Given the description of an element on the screen output the (x, y) to click on. 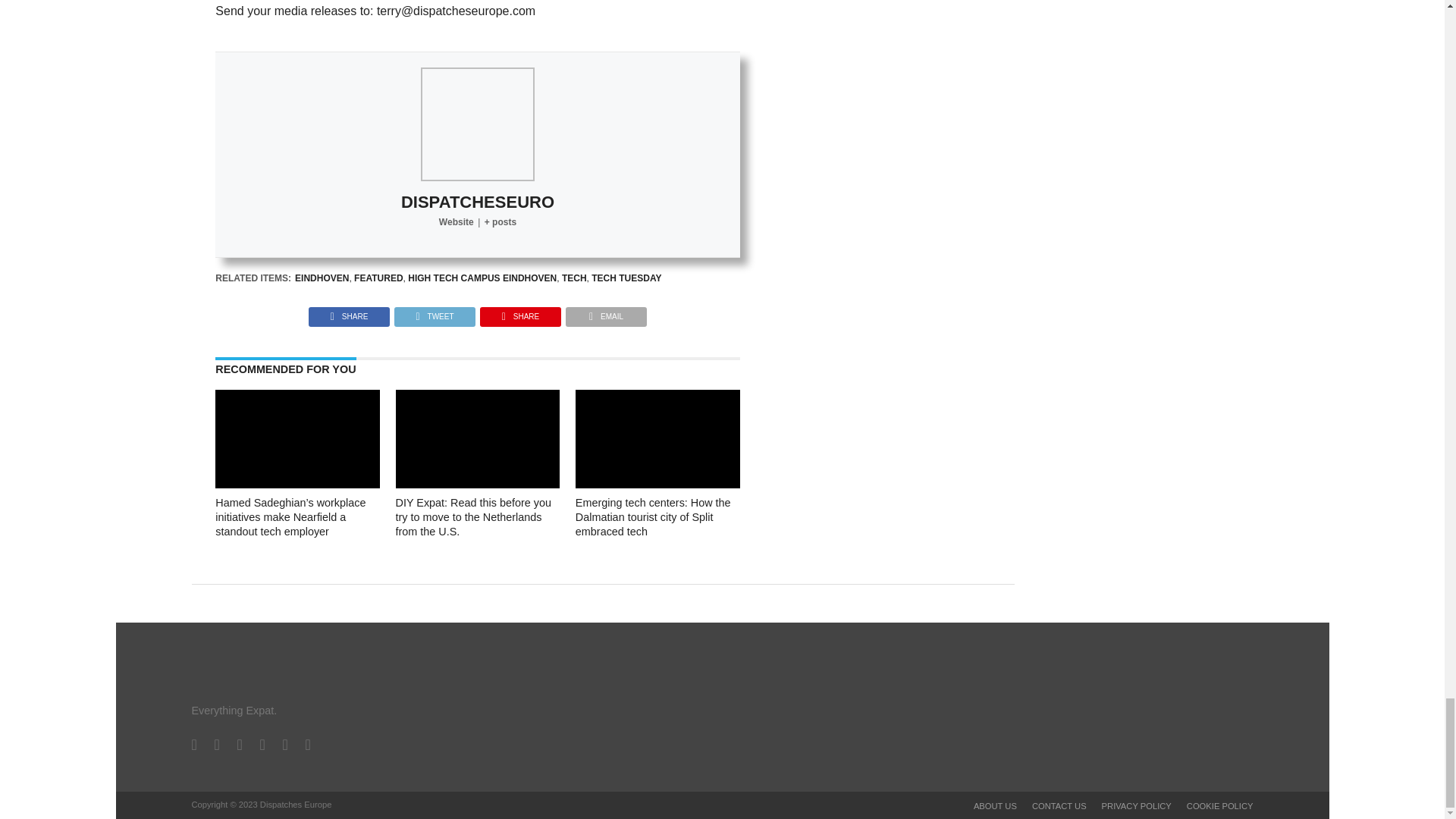
Pin This Post (520, 312)
Tweet This Post (434, 312)
Share on Facebook (349, 312)
